Given the description of an element on the screen output the (x, y) to click on. 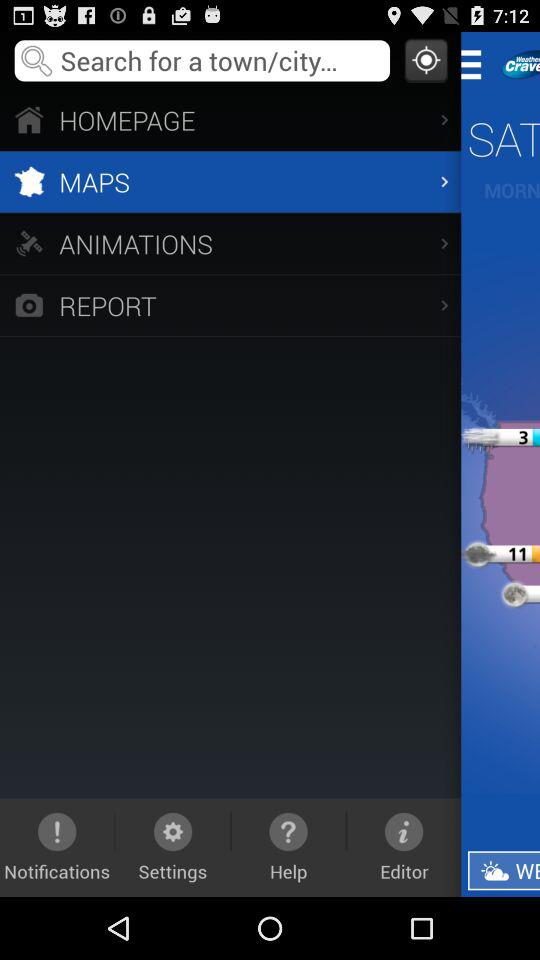
select the homepage item (230, 119)
